Given the description of an element on the screen output the (x, y) to click on. 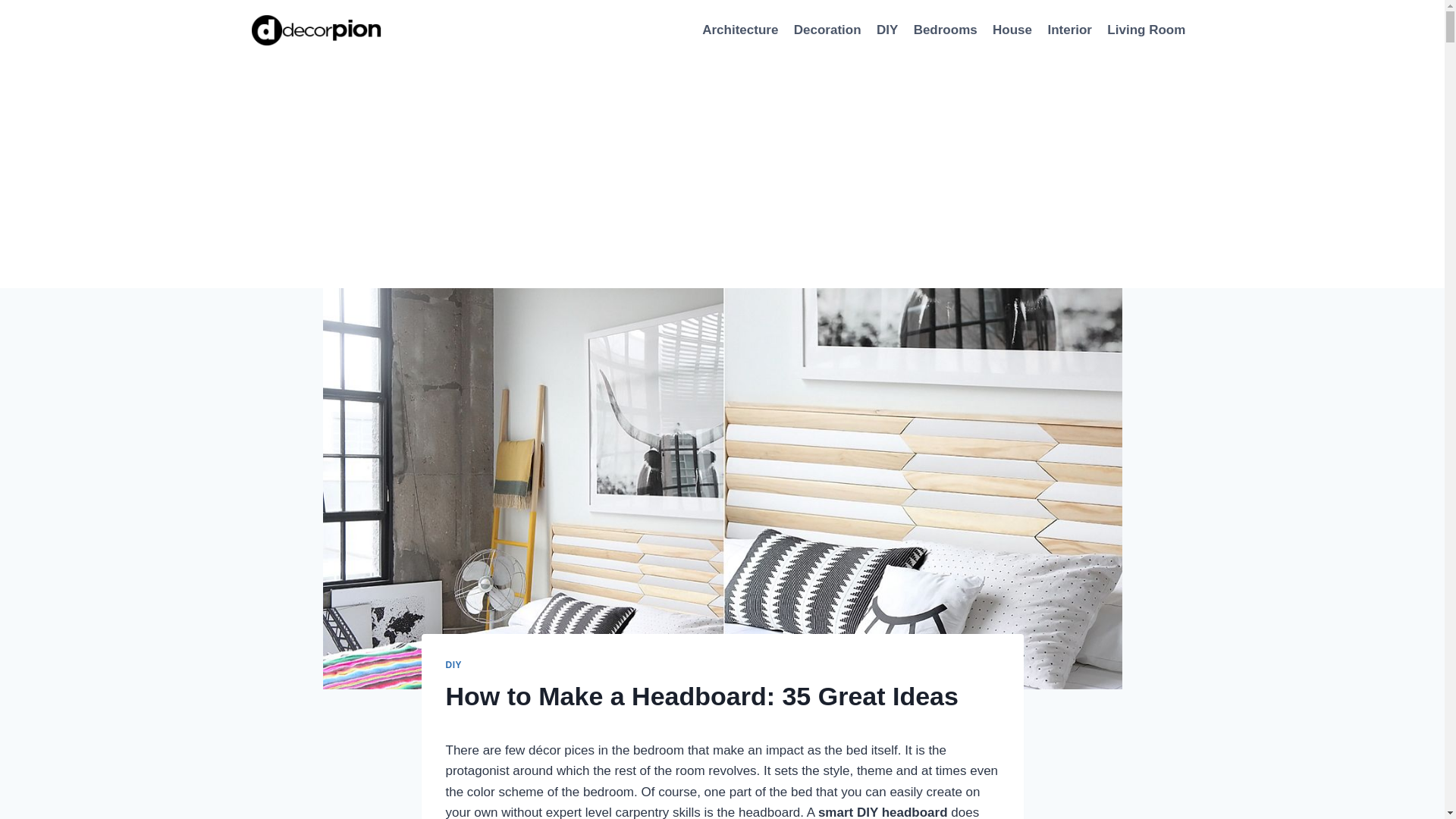
DIY (454, 665)
Bedrooms (944, 30)
DIY (887, 30)
House (1012, 30)
Decoration (827, 30)
Living Room (1145, 30)
Interior (1069, 30)
Architecture (740, 30)
